Given the description of an element on the screen output the (x, y) to click on. 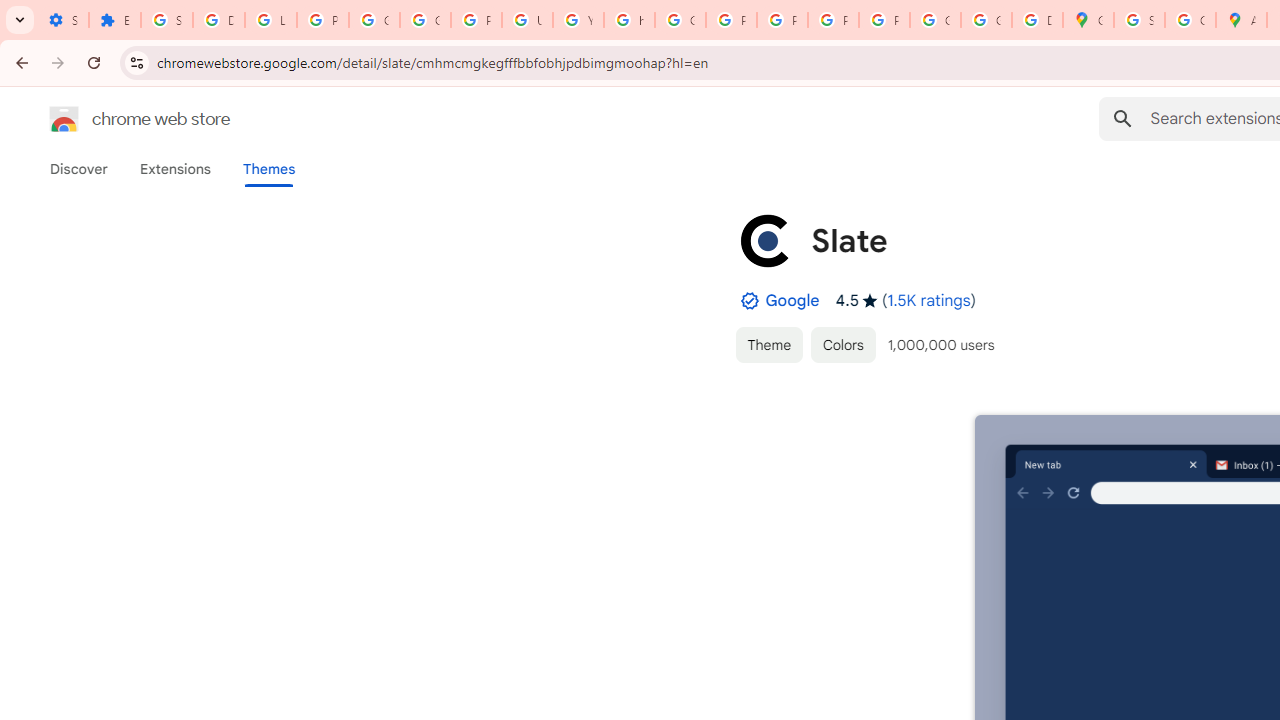
Chrome Web Store logo chrome web store (118, 118)
Settings - On startup (63, 20)
YouTube (578, 20)
By Established Publisher Badge (749, 301)
